Given the description of an element on the screen output the (x, y) to click on. 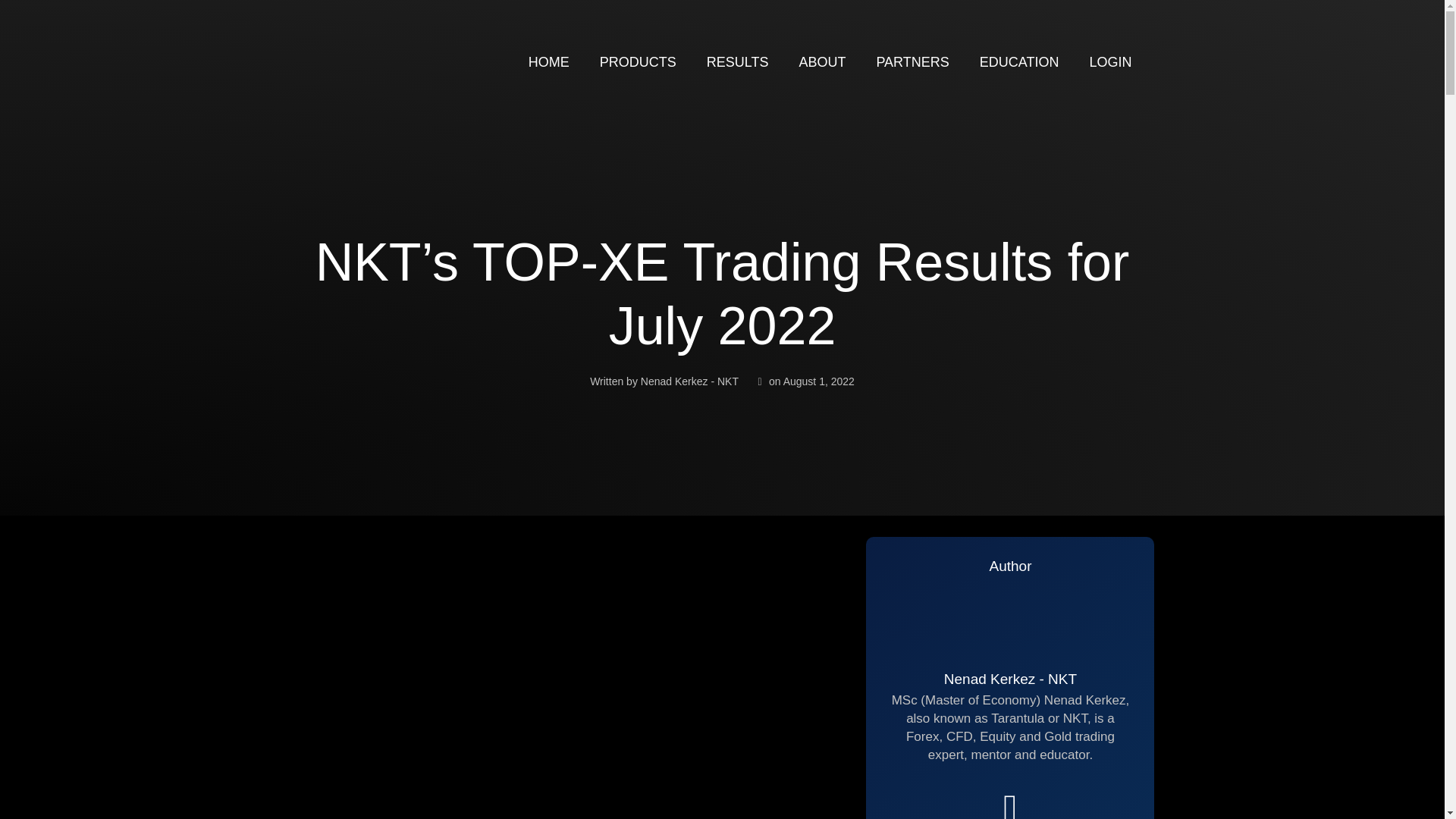
PARTNERS (911, 62)
LOGIN (1110, 62)
ABOUT (821, 62)
RESULTS (737, 62)
Author (1009, 566)
HOME (549, 62)
EDUCATION (1018, 62)
PRODUCTS (638, 62)
